Given the description of an element on the screen output the (x, y) to click on. 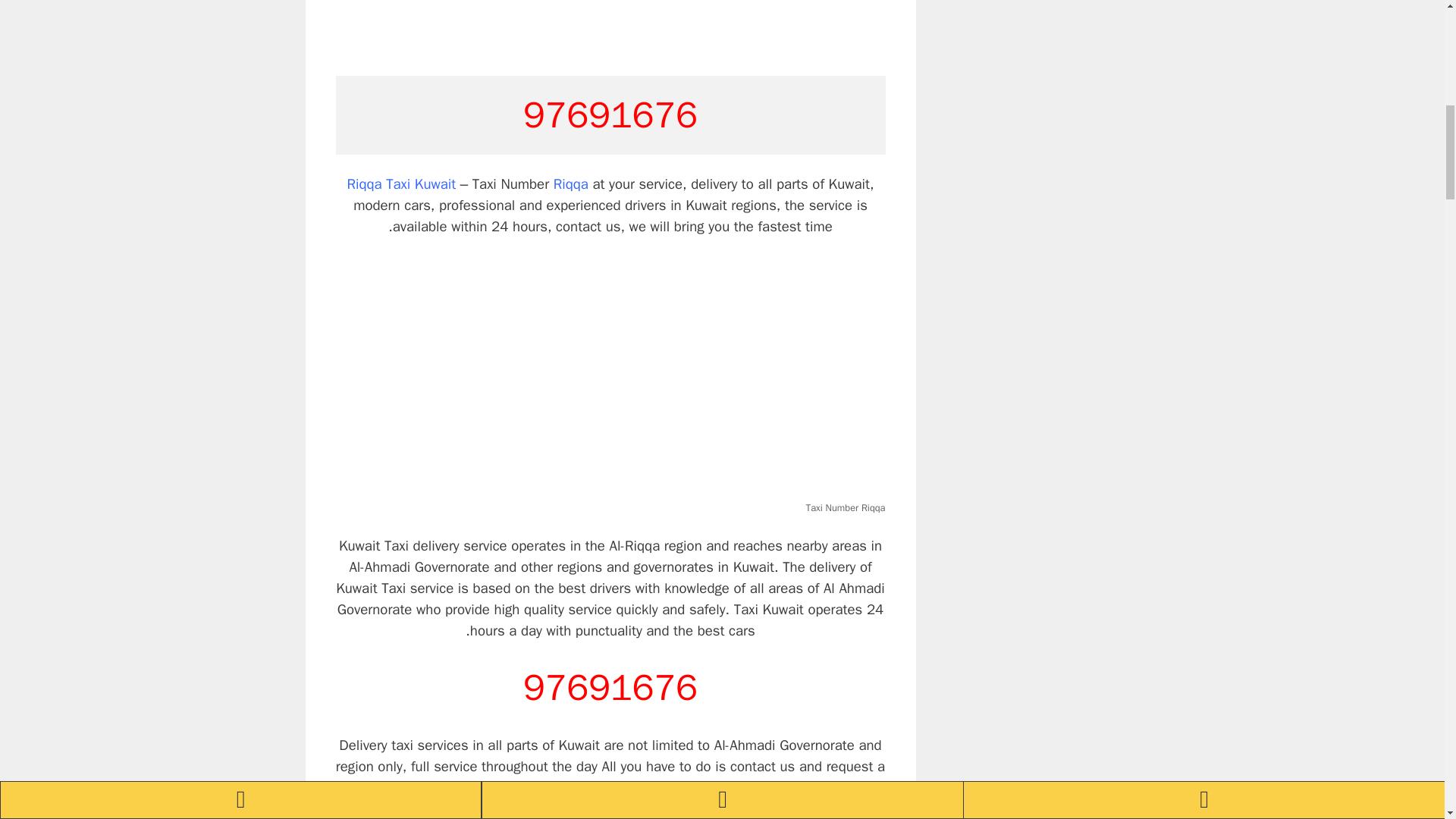
97691676 (609, 115)
97691676 (609, 687)
